Given the description of an element on the screen output the (x, y) to click on. 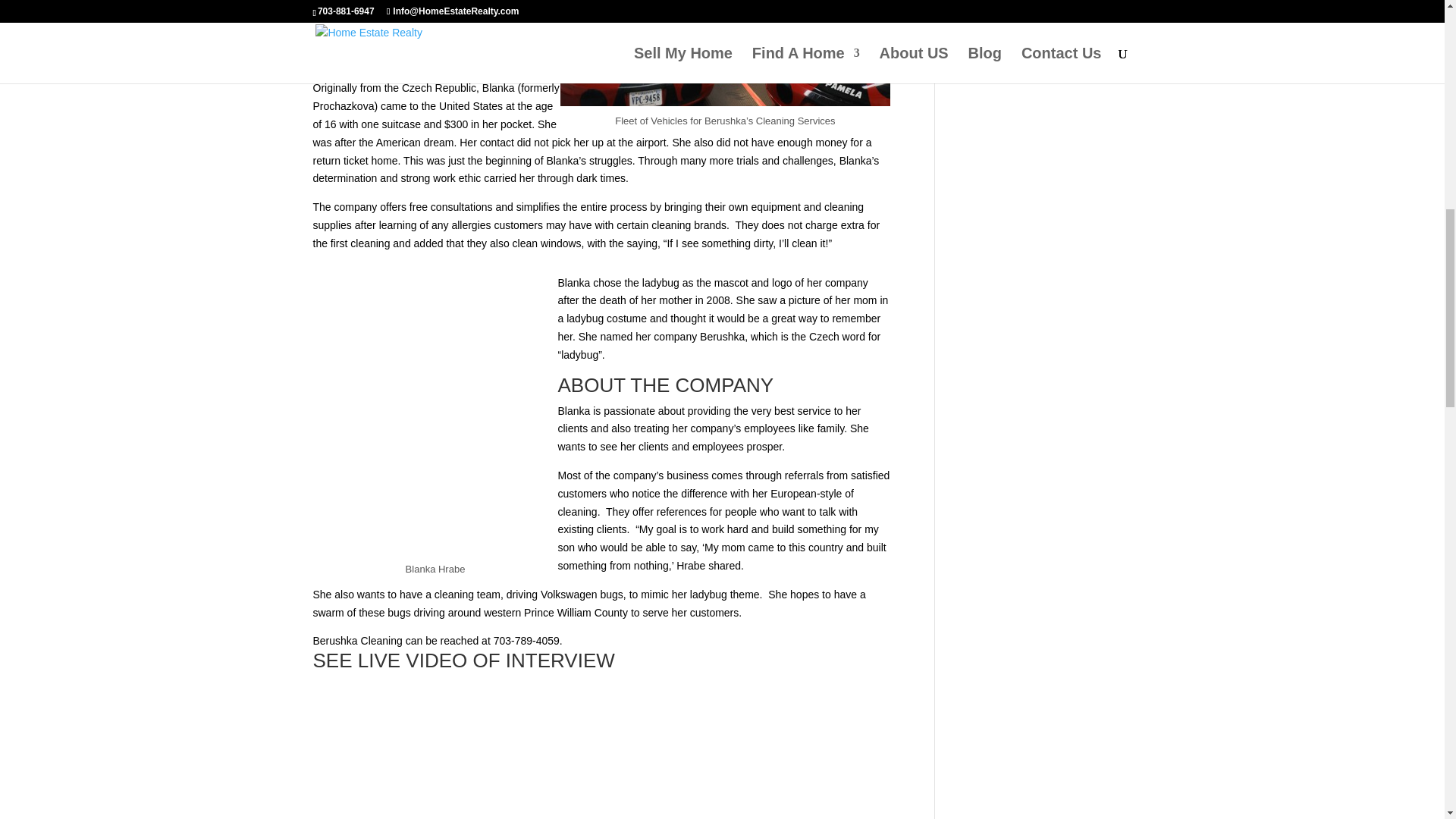
Most Inspiring Companies - Berushka's Cleaning Services (601, 748)
